Given the description of an element on the screen output the (x, y) to click on. 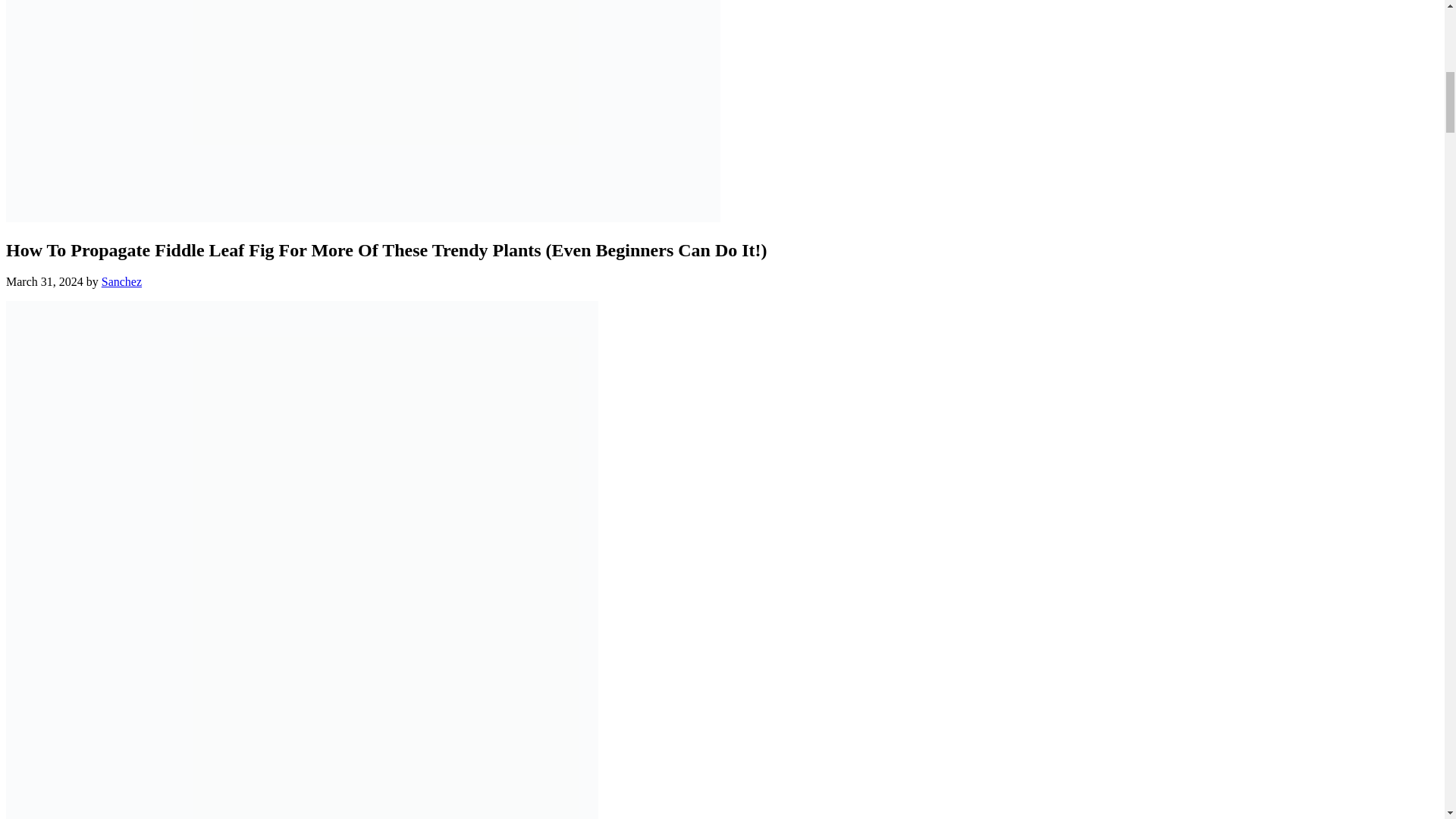
Sanchez (121, 281)
View all posts by Sanchez (121, 281)
